Given the description of an element on the screen output the (x, y) to click on. 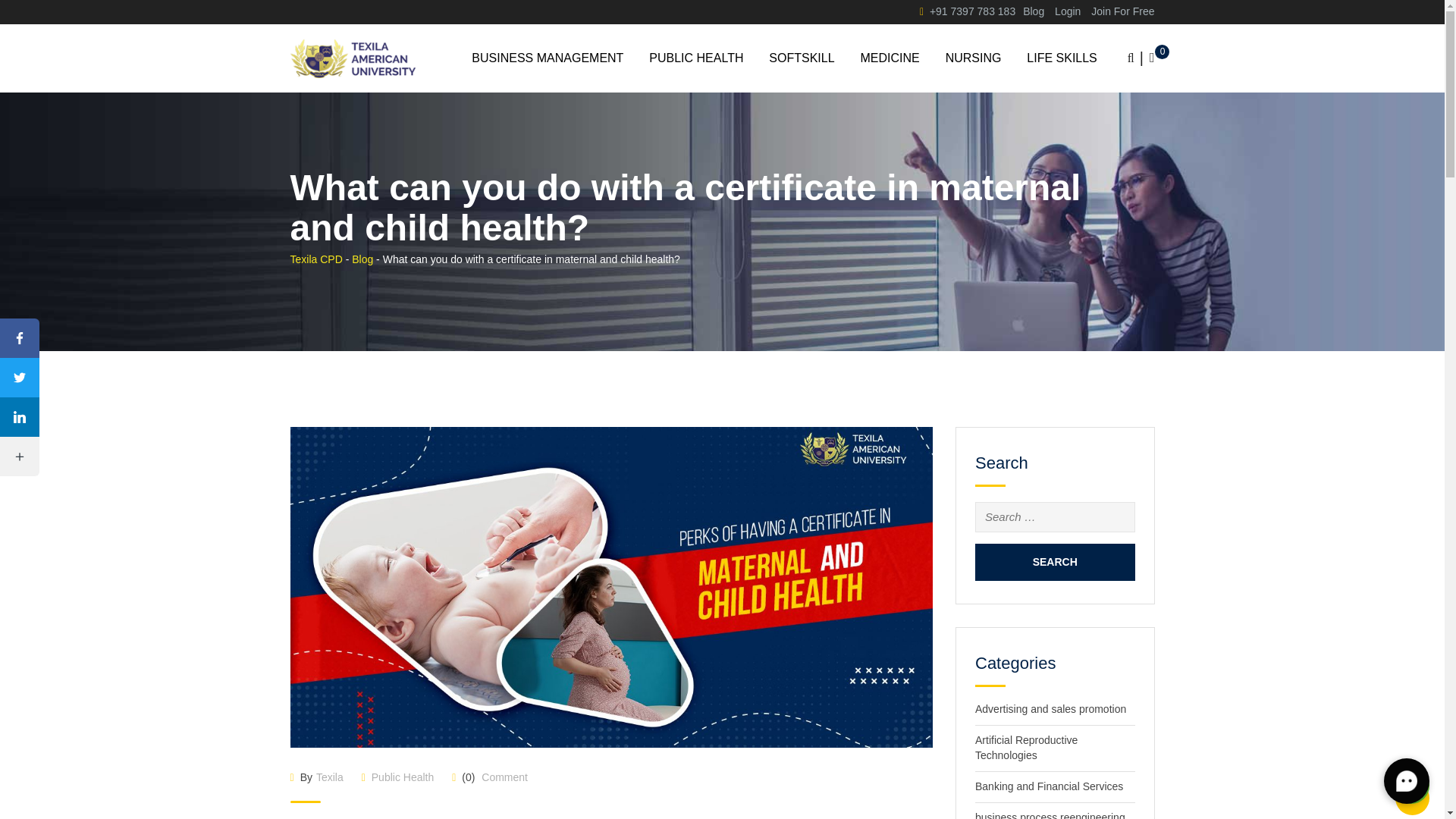
Join For Free (1122, 10)
WhatsApp (1411, 785)
Posts by Texila (329, 776)
MEDICINE (889, 58)
Go to Blog. (362, 259)
Go to Texila CPD. (315, 259)
PUBLIC HEALTH (695, 58)
Blog (1033, 10)
Search (1055, 561)
Login (1067, 10)
